Given the description of an element on the screen output the (x, y) to click on. 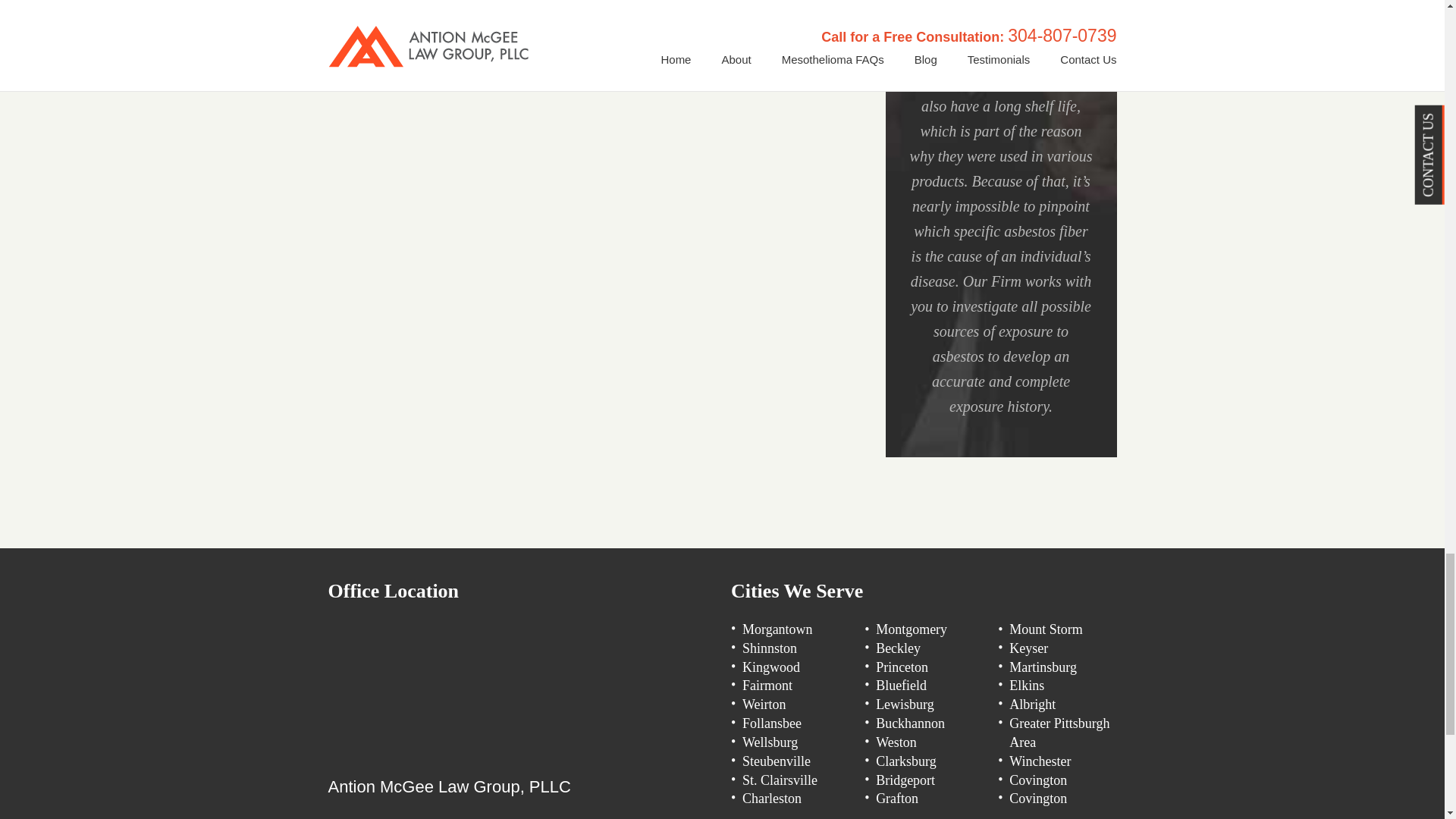
Shinnston (769, 648)
Morgantown (777, 629)
Wellsburg (769, 742)
Weirton (764, 703)
Fairmont (767, 685)
Kingwood (770, 667)
Follansbee (772, 723)
Steubenville (776, 761)
